Given the description of an element on the screen output the (x, y) to click on. 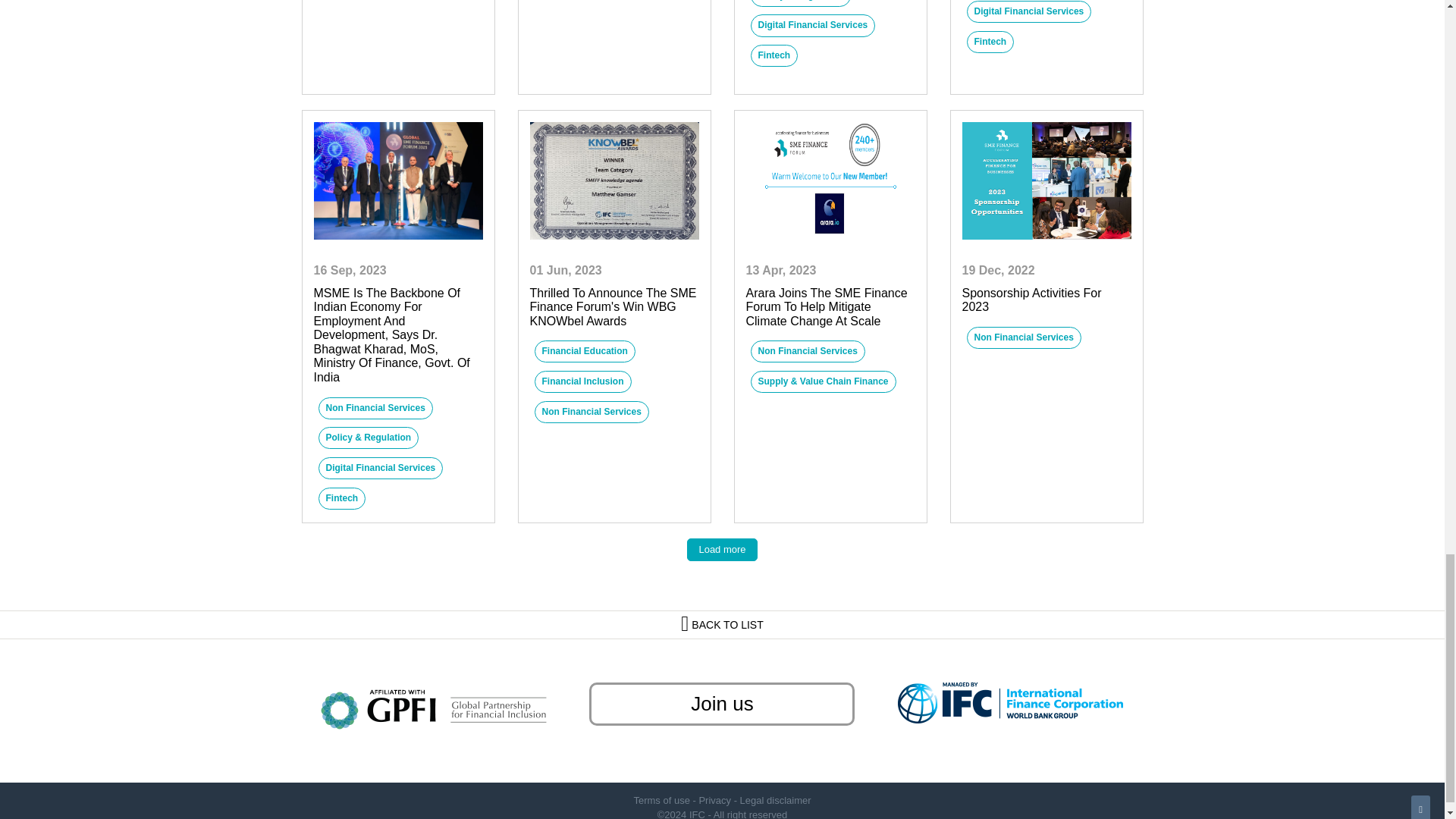
IFC (1010, 702)
GPFI (433, 705)
